Given the description of an element on the screen output the (x, y) to click on. 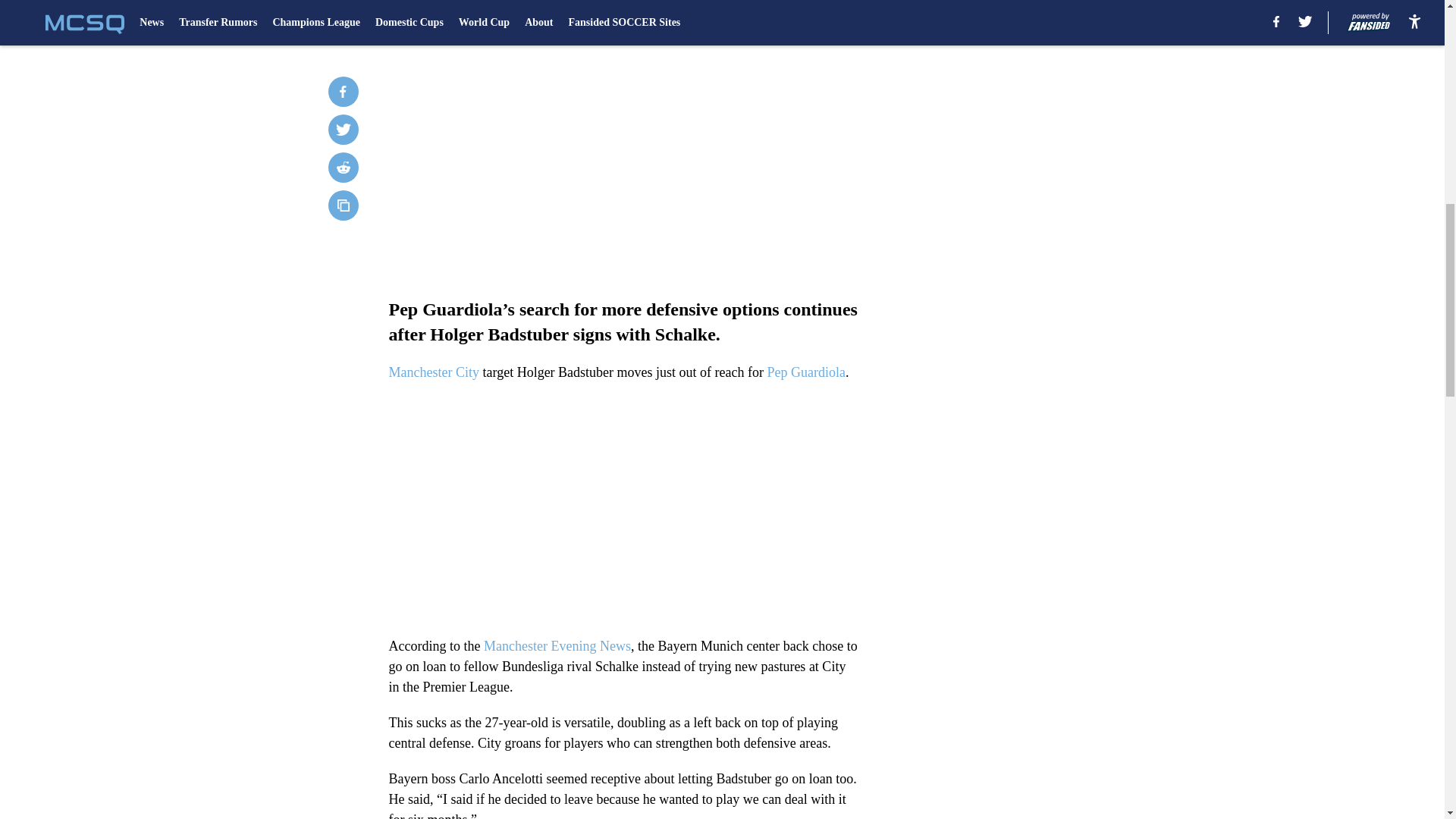
Pep Guardiola (806, 372)
Manchester City (433, 372)
Manchester Evening News (556, 645)
